Given the description of an element on the screen output the (x, y) to click on. 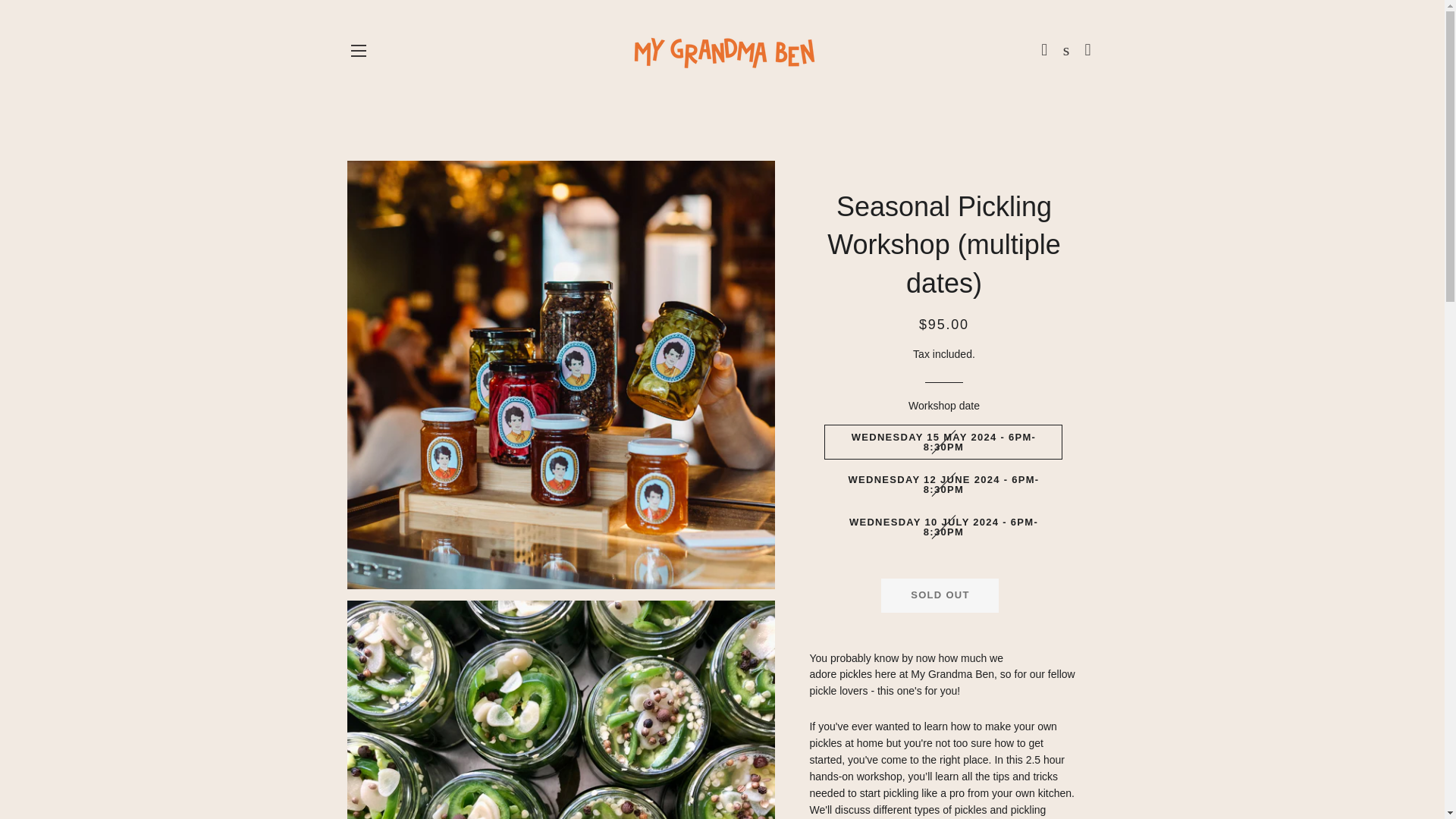
LOG IN (1044, 49)
SEARCH (1066, 49)
SOLD OUT (939, 594)
CART (1087, 49)
SITE NAVIGATION (358, 50)
